Given the description of an element on the screen output the (x, y) to click on. 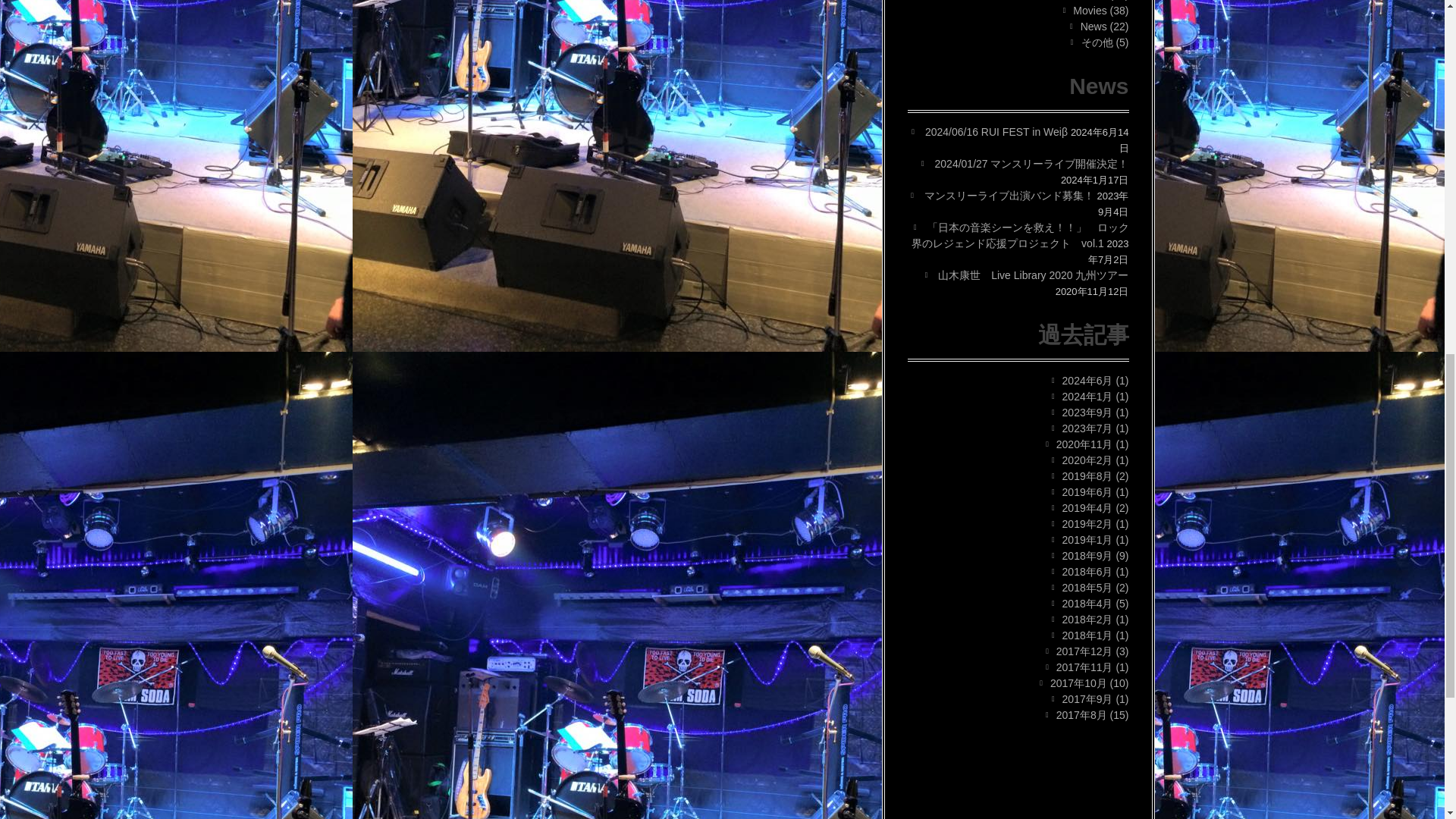
Event Info (1082, 0)
Movies (1089, 10)
News (1093, 26)
